Given the description of an element on the screen output the (x, y) to click on. 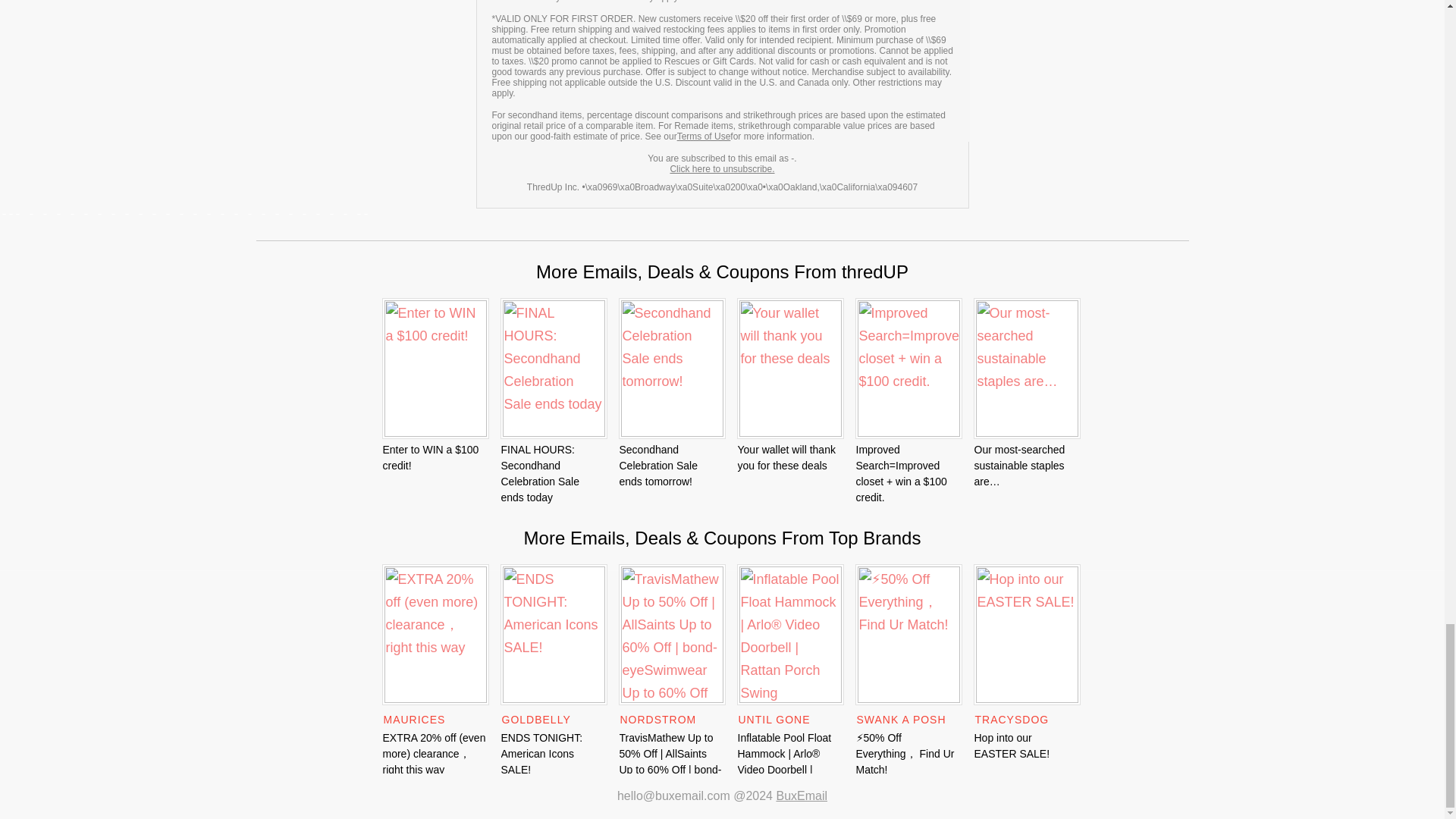
FINAL HOURS: Secondhand Celebration Sale ends today (539, 473)
Click here to unsubscribe. (721, 168)
Terms of Use (703, 136)
